Given the description of an element on the screen output the (x, y) to click on. 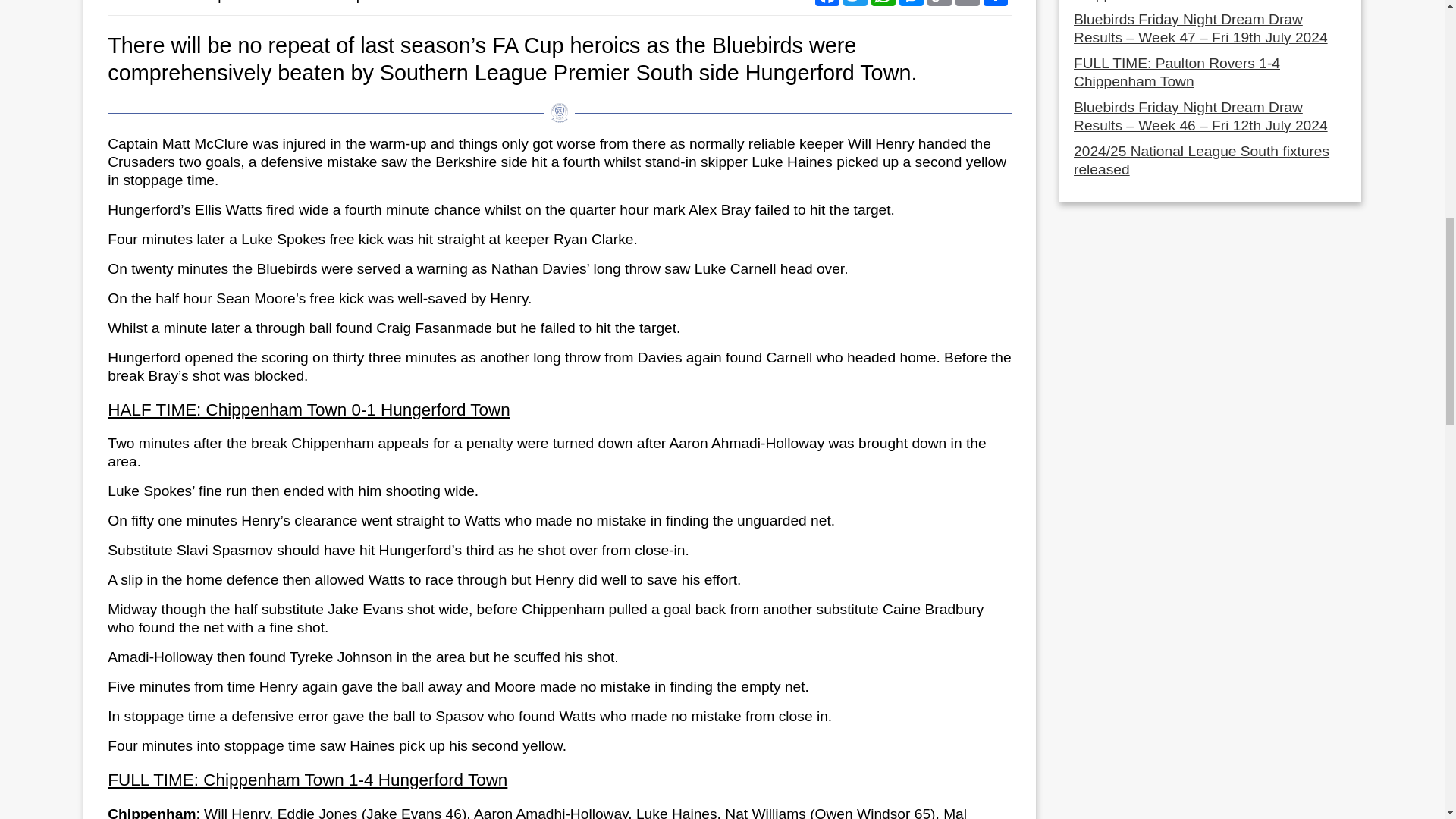
Copy Link (941, 4)
Messenger (913, 4)
Facebook (829, 4)
WhatsApp (884, 4)
Email (969, 4)
Twitter (856, 4)
